Given the description of an element on the screen output the (x, y) to click on. 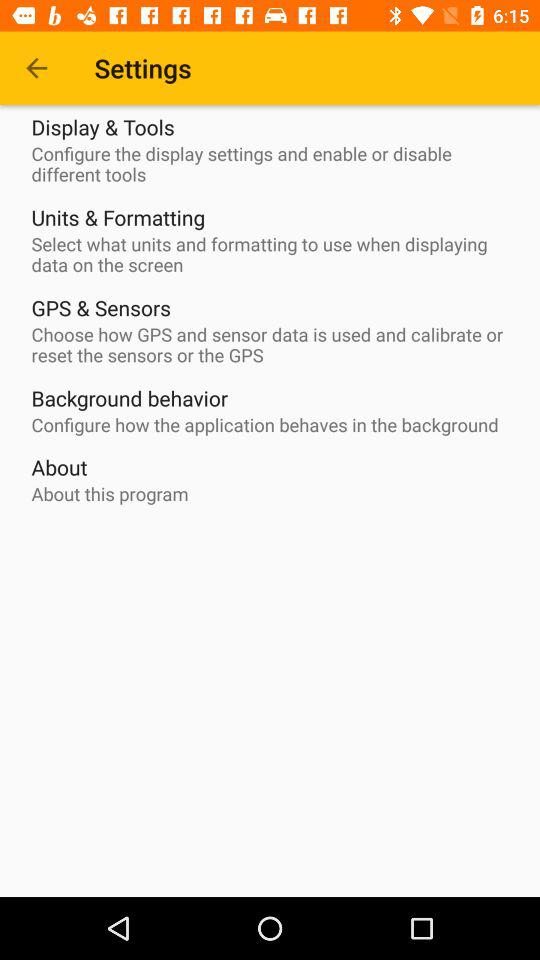
tap background behavior icon (129, 398)
